Given the description of an element on the screen output the (x, y) to click on. 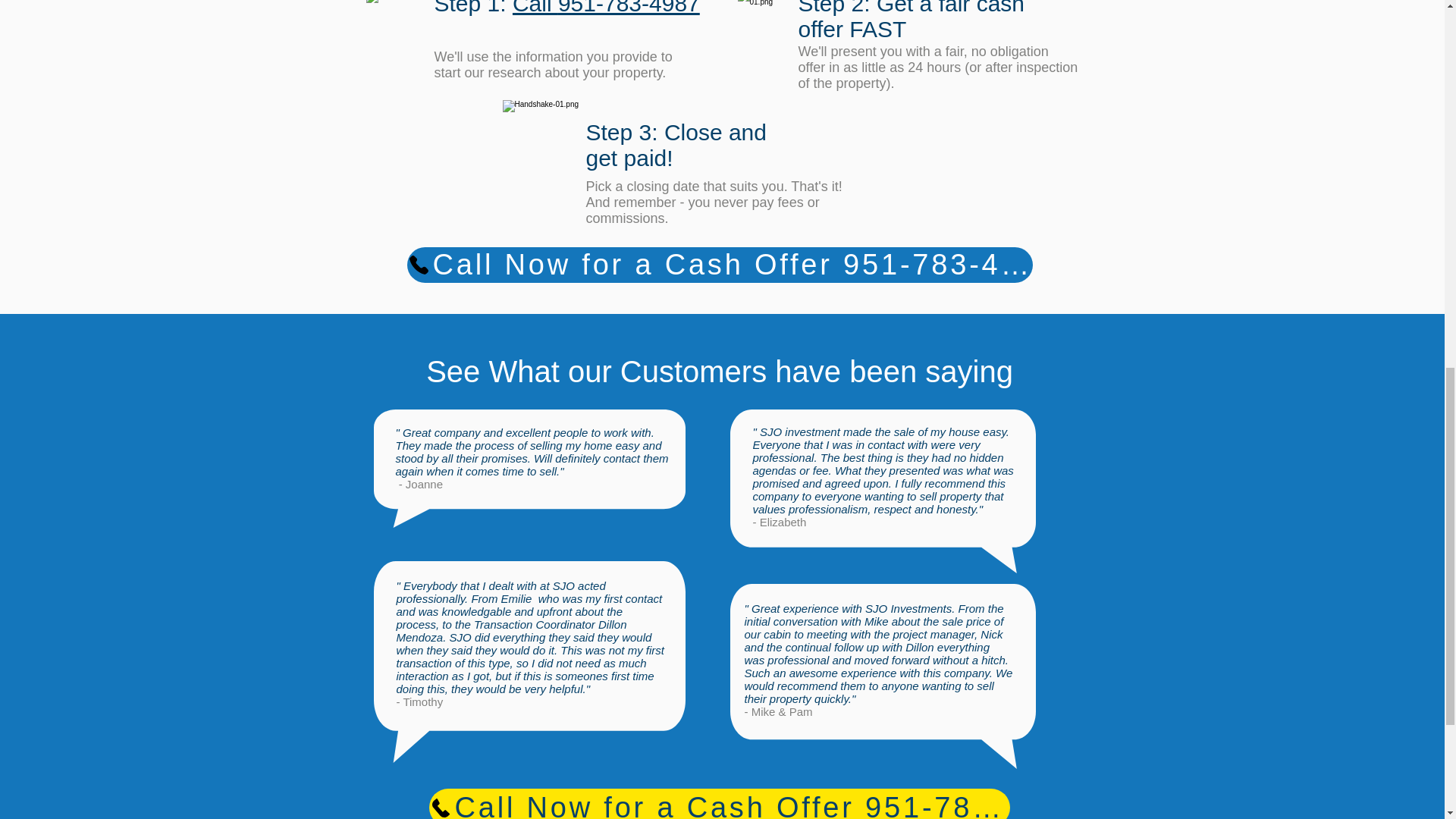
Call Now for a Cash Offer 951-783-4987 (719, 264)
951-783-4987 (628, 7)
Call Now for a Cash Offer 951-783-4987 (719, 803)
